Given the description of an element on the screen output the (x, y) to click on. 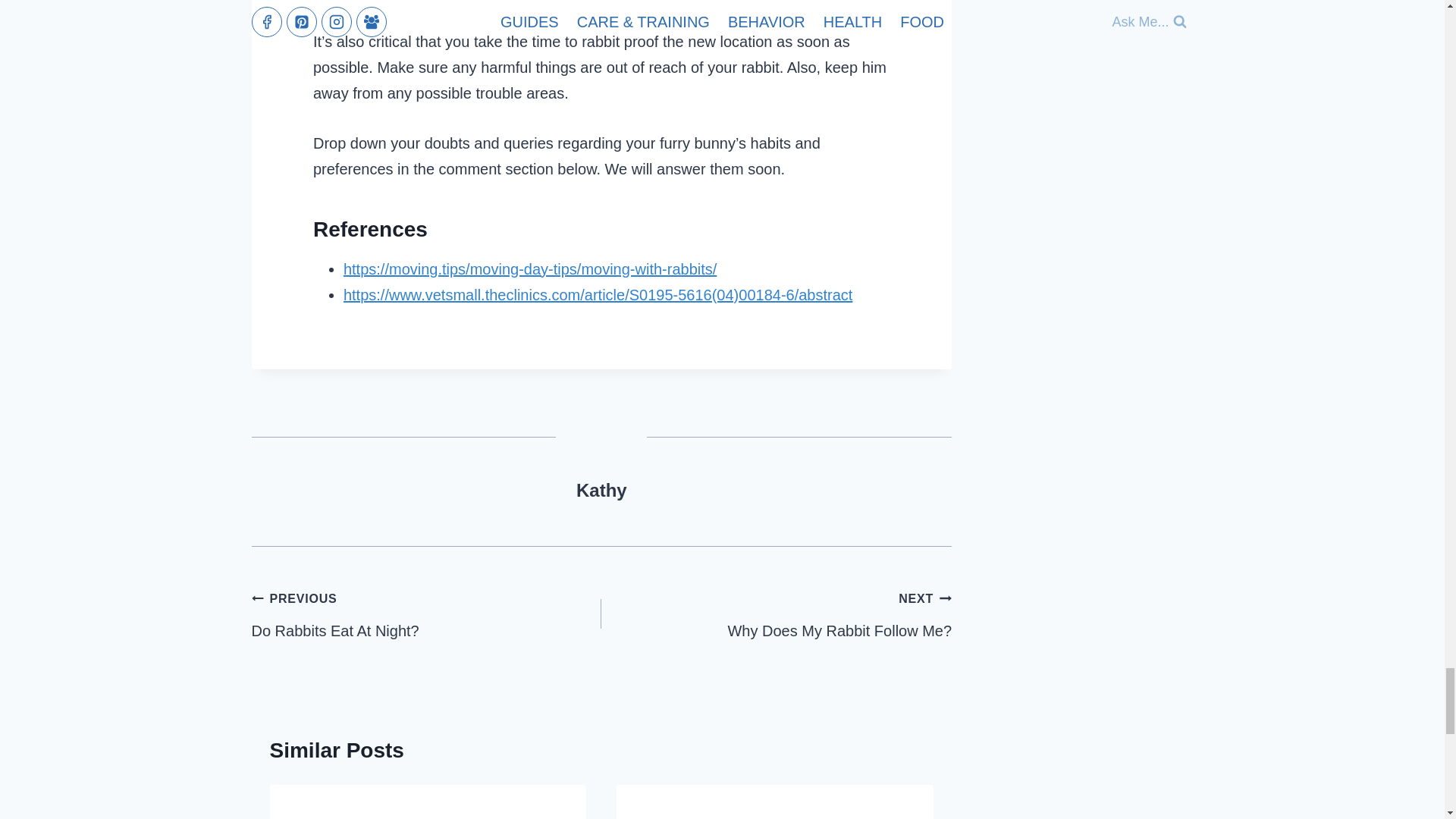
Posts by Kathy (601, 489)
